Given the description of an element on the screen output the (x, y) to click on. 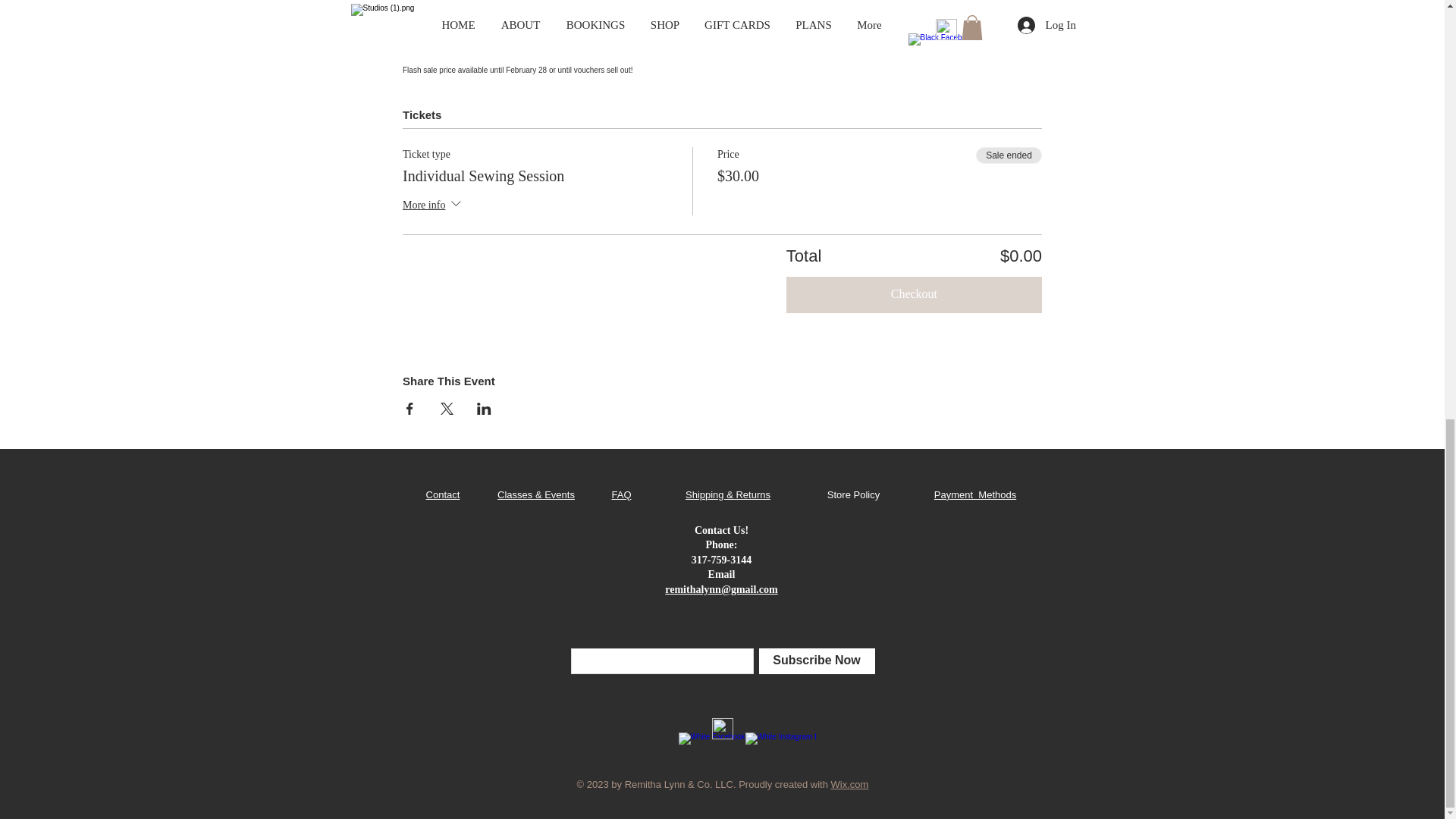
Store Policy (853, 494)
Subscribe Now (816, 661)
FAQ (620, 494)
Payment  Methods (975, 494)
Wix.com (850, 784)
More info (433, 205)
Checkout (914, 294)
Contact (443, 494)
